Given the description of an element on the screen output the (x, y) to click on. 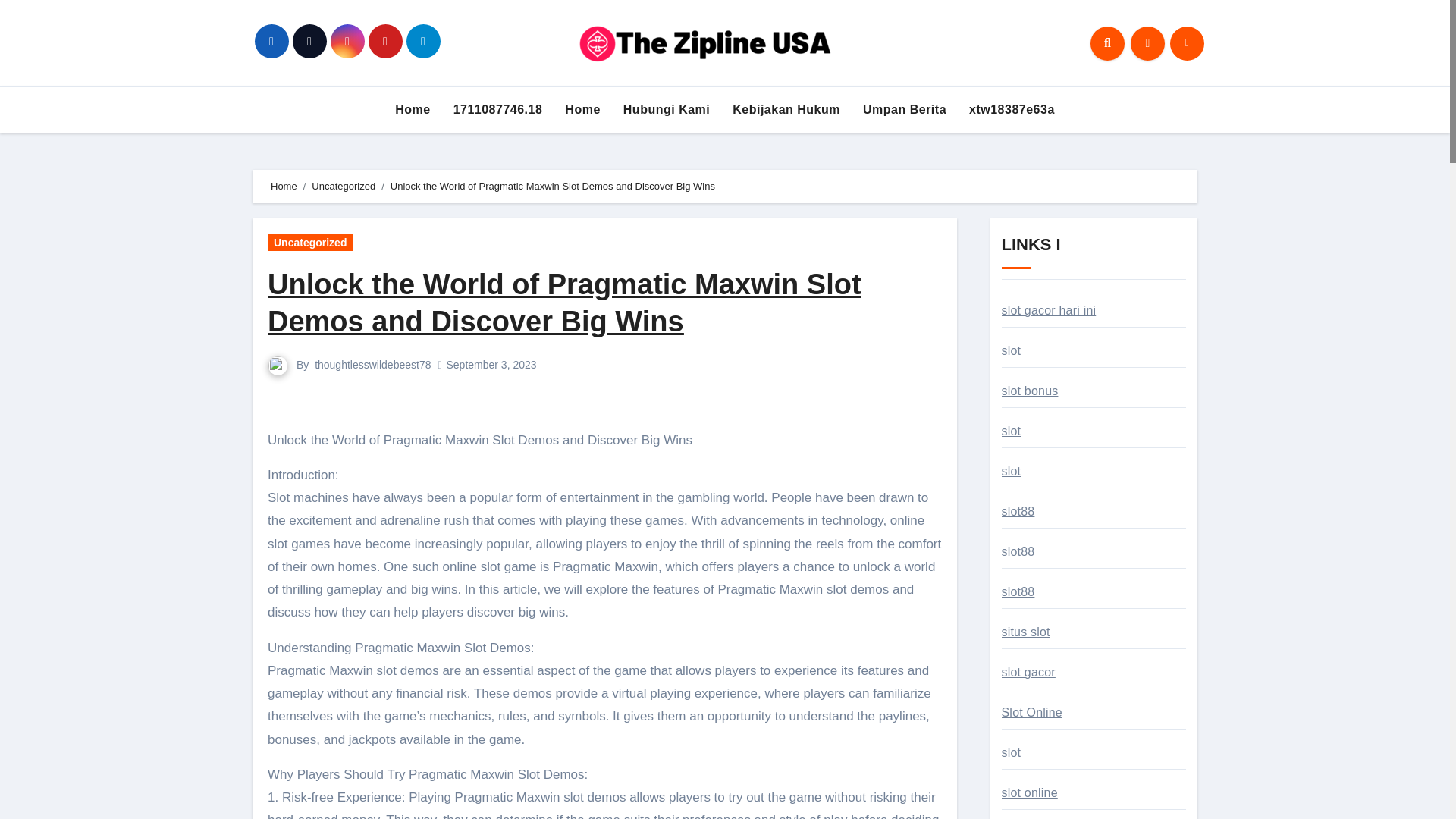
Umpan Berita (904, 109)
1711087746.18 (498, 109)
Hubungi Kami (665, 109)
Uncategorized (309, 242)
xtw18387e63a (1011, 109)
Home (412, 109)
Kebijakan Hukum (785, 109)
Home (283, 185)
thoughtlesswildebeest78 (372, 364)
Home (582, 109)
Home (412, 109)
Uncategorized (343, 185)
September 3, 2023 (490, 364)
